Given the description of an element on the screen output the (x, y) to click on. 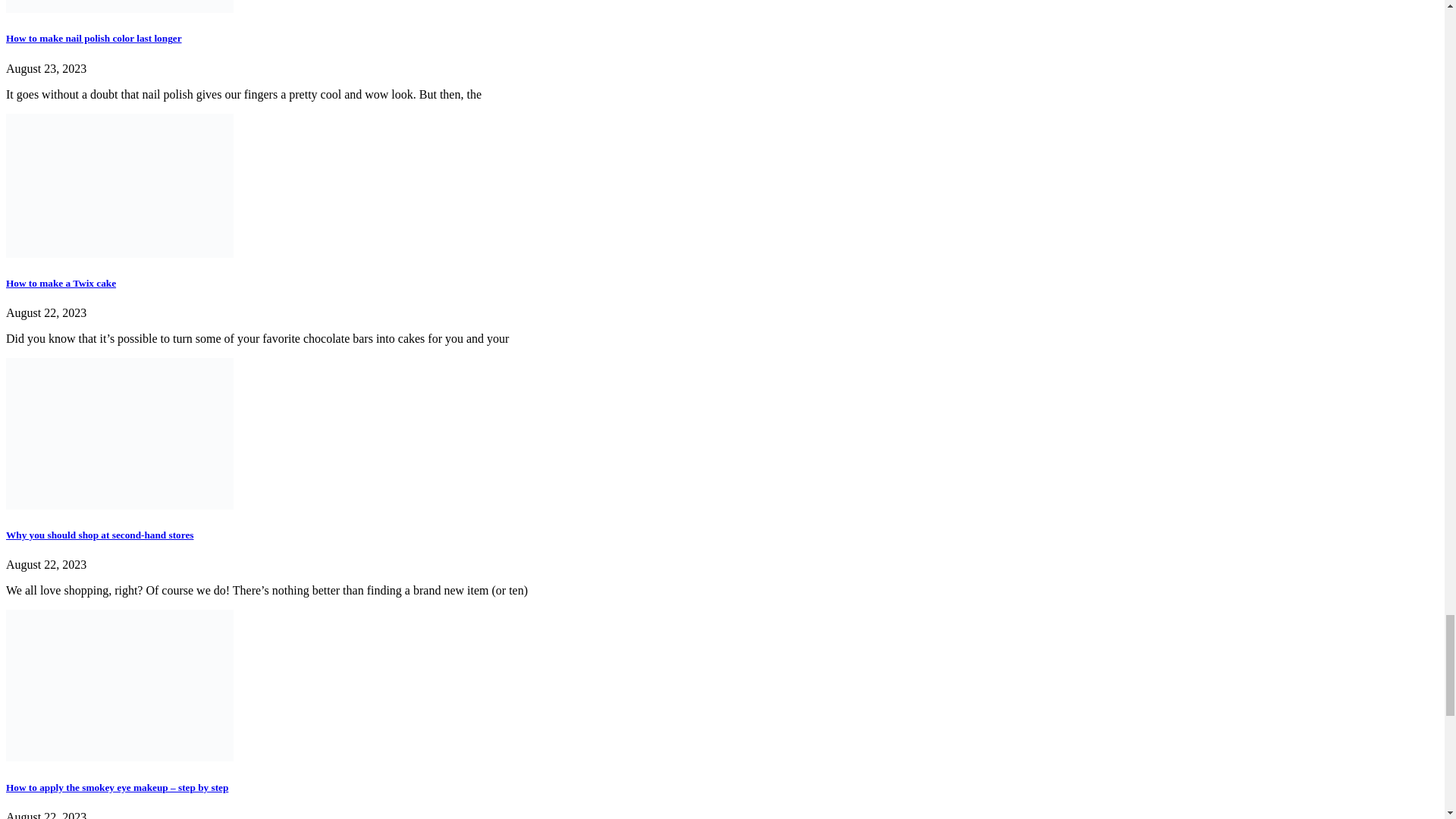
Why you should shop at second-hand stores (99, 534)
How to make nail polish color last longer (93, 38)
How to make a Twix cake (60, 283)
